Given the description of an element on the screen output the (x, y) to click on. 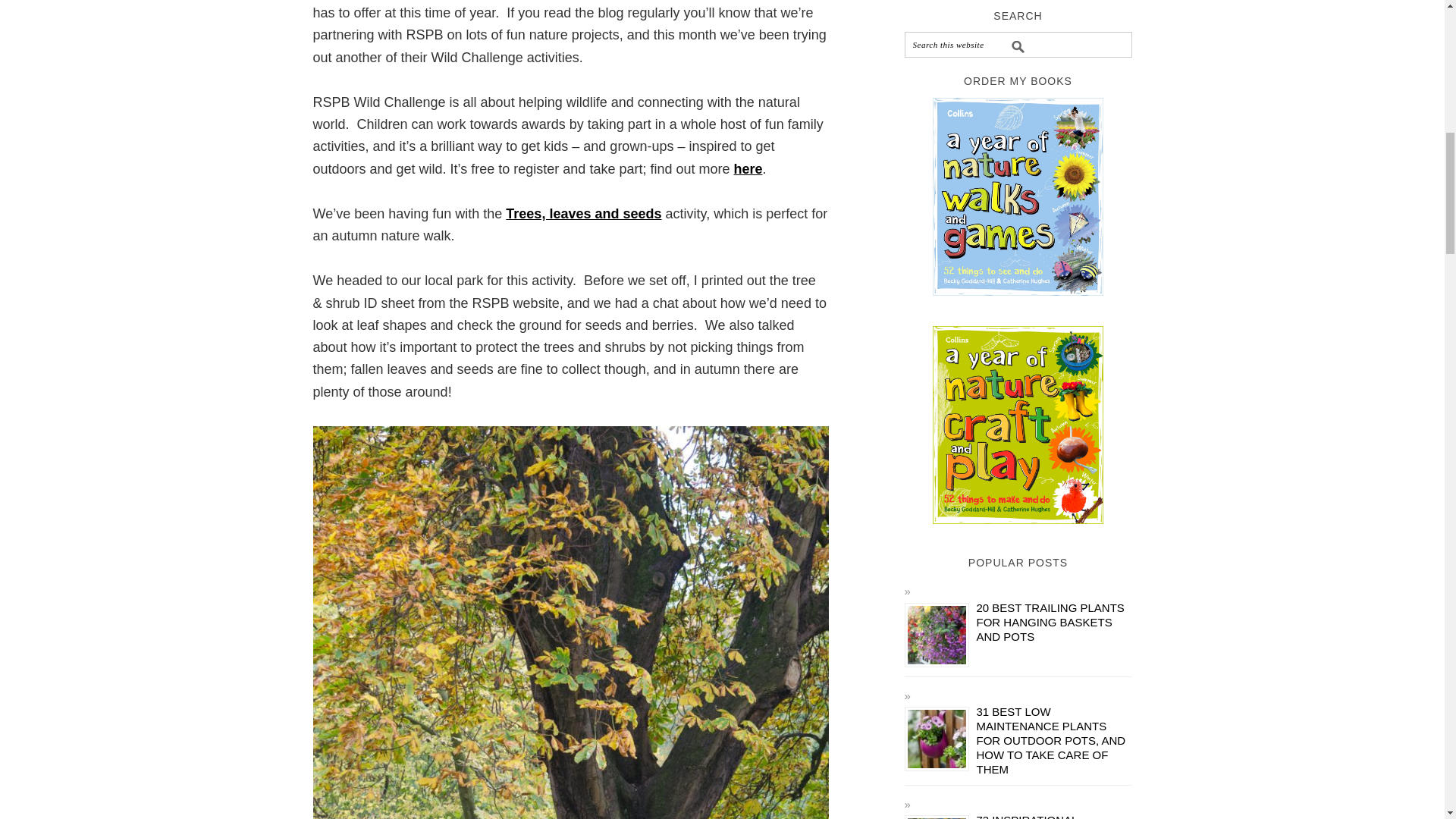
here (747, 168)
